Given the description of an element on the screen output the (x, y) to click on. 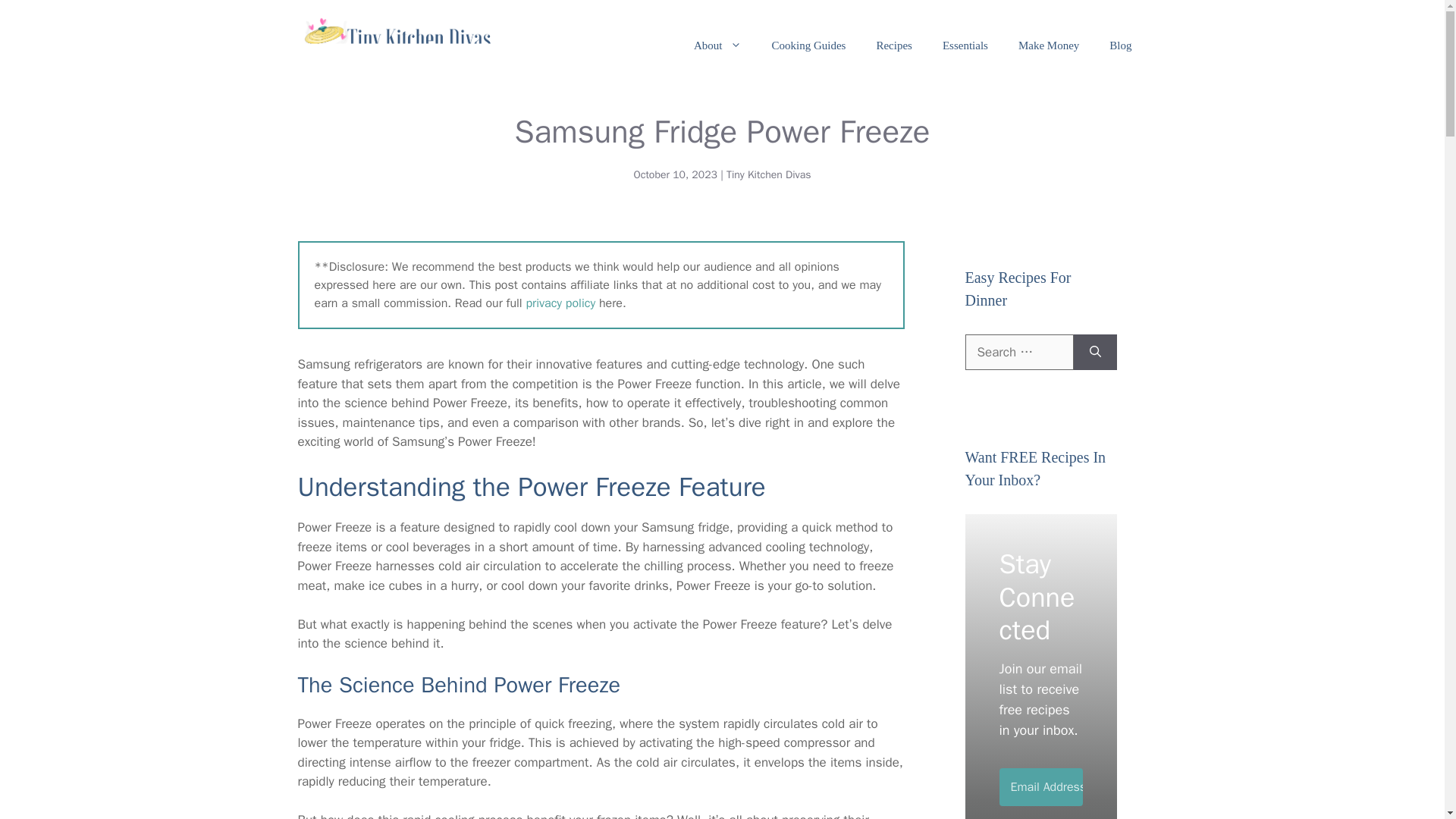
Tiny Kitchen Divas (768, 174)
Search for: (1018, 352)
Recipes (893, 44)
Essentials (965, 44)
privacy policy (560, 303)
Cooking Guides (809, 44)
About (717, 44)
Blog (1120, 44)
View all posts by Tiny Kitchen Divas (768, 174)
Make Money (1048, 44)
